Given the description of an element on the screen output the (x, y) to click on. 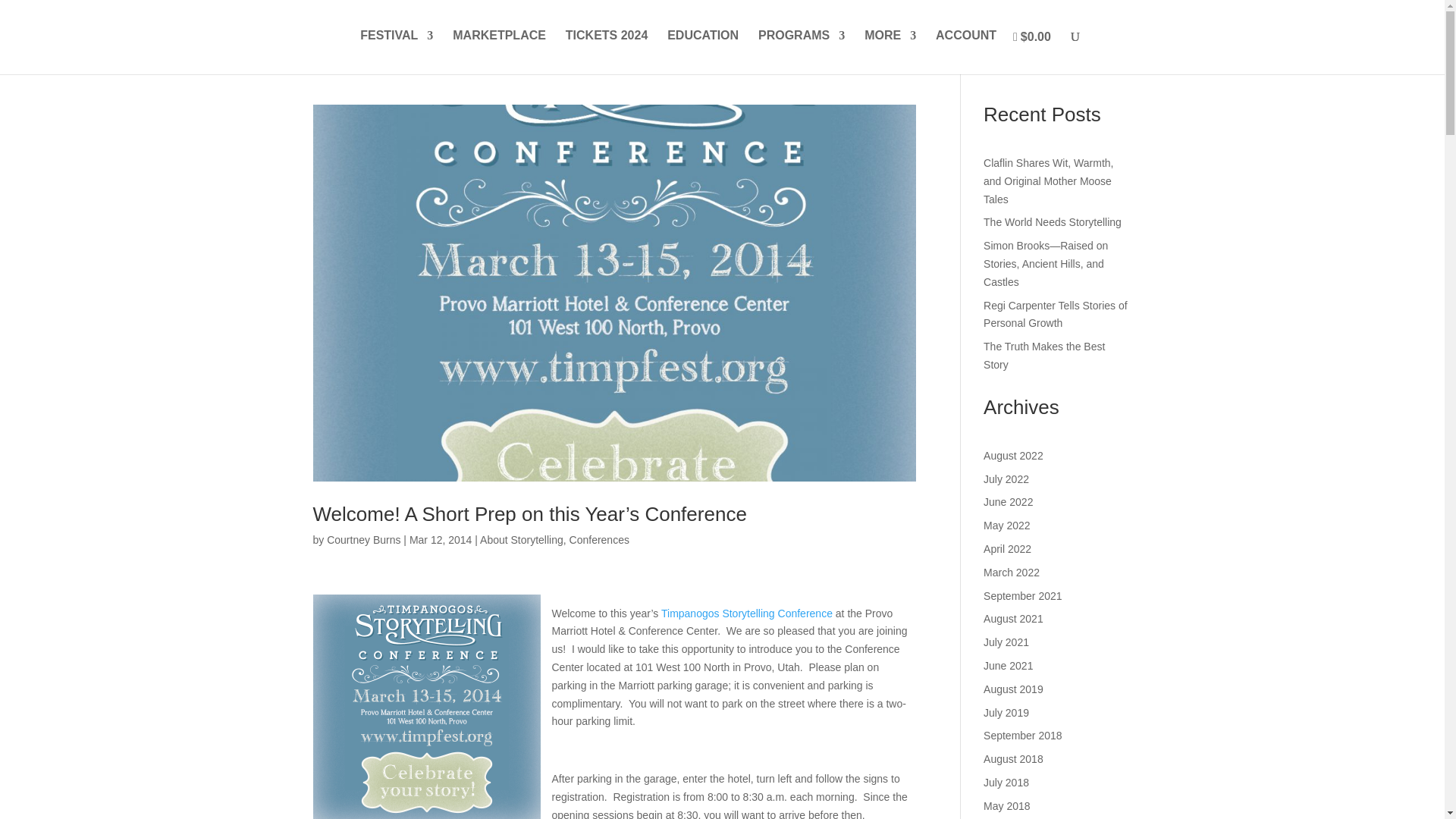
FESTIVAL (395, 50)
TICKETS 2024 (606, 50)
Conferences (598, 539)
Timpanogos Storytelling Conference (748, 613)
MARKETPLACE (499, 50)
Courtney Burns (363, 539)
EDUCATION (702, 50)
About Storytelling (521, 539)
PROGRAMS (801, 50)
ACCOUNT (965, 50)
